Given the description of an element on the screen output the (x, y) to click on. 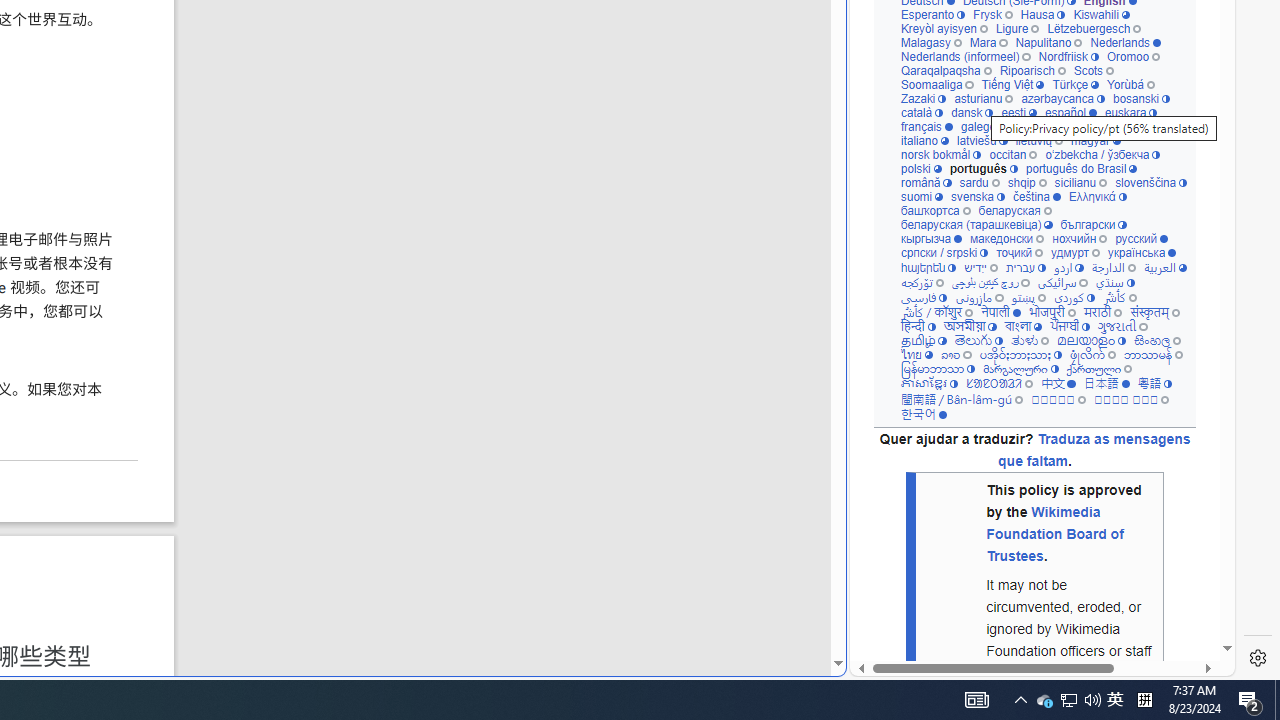
Nederlands (1126, 42)
Global web icon (888, 663)
sicilianu (1080, 182)
Qaraqalpaqsha (945, 70)
Esperanto (932, 14)
svenska (976, 195)
Ripoarisch (1032, 70)
